Given the description of an element on the screen output the (x, y) to click on. 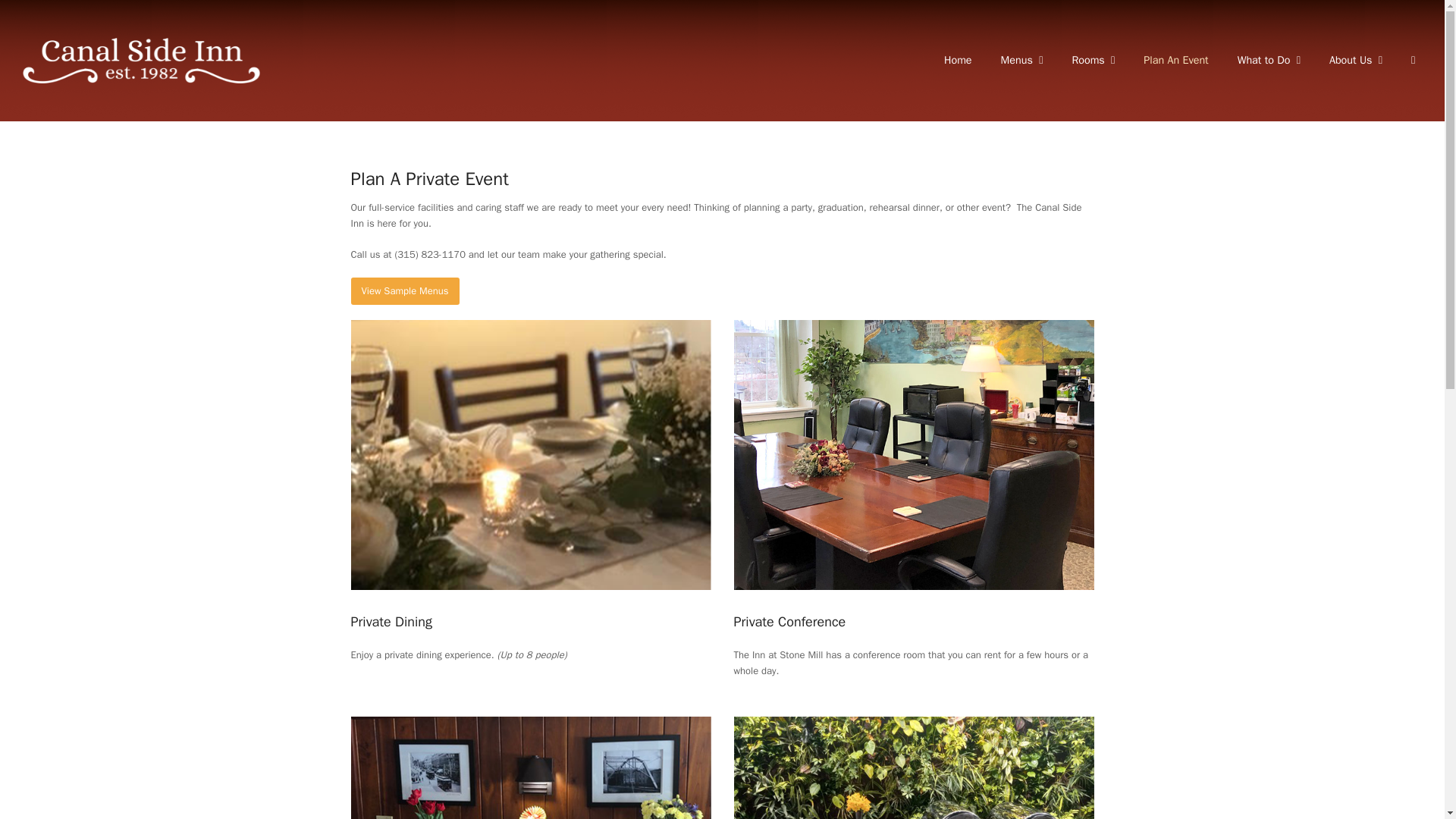
What to Do (1268, 60)
in-restaurant-4 (530, 767)
Menus (1022, 60)
private-dining-1 (530, 454)
About Us (1355, 60)
Rooms (1092, 60)
conference-1 (913, 454)
Plan An Event (1176, 60)
offsite-event (913, 767)
View Sample Menus (404, 290)
Home (958, 60)
